Given the description of an element on the screen output the (x, y) to click on. 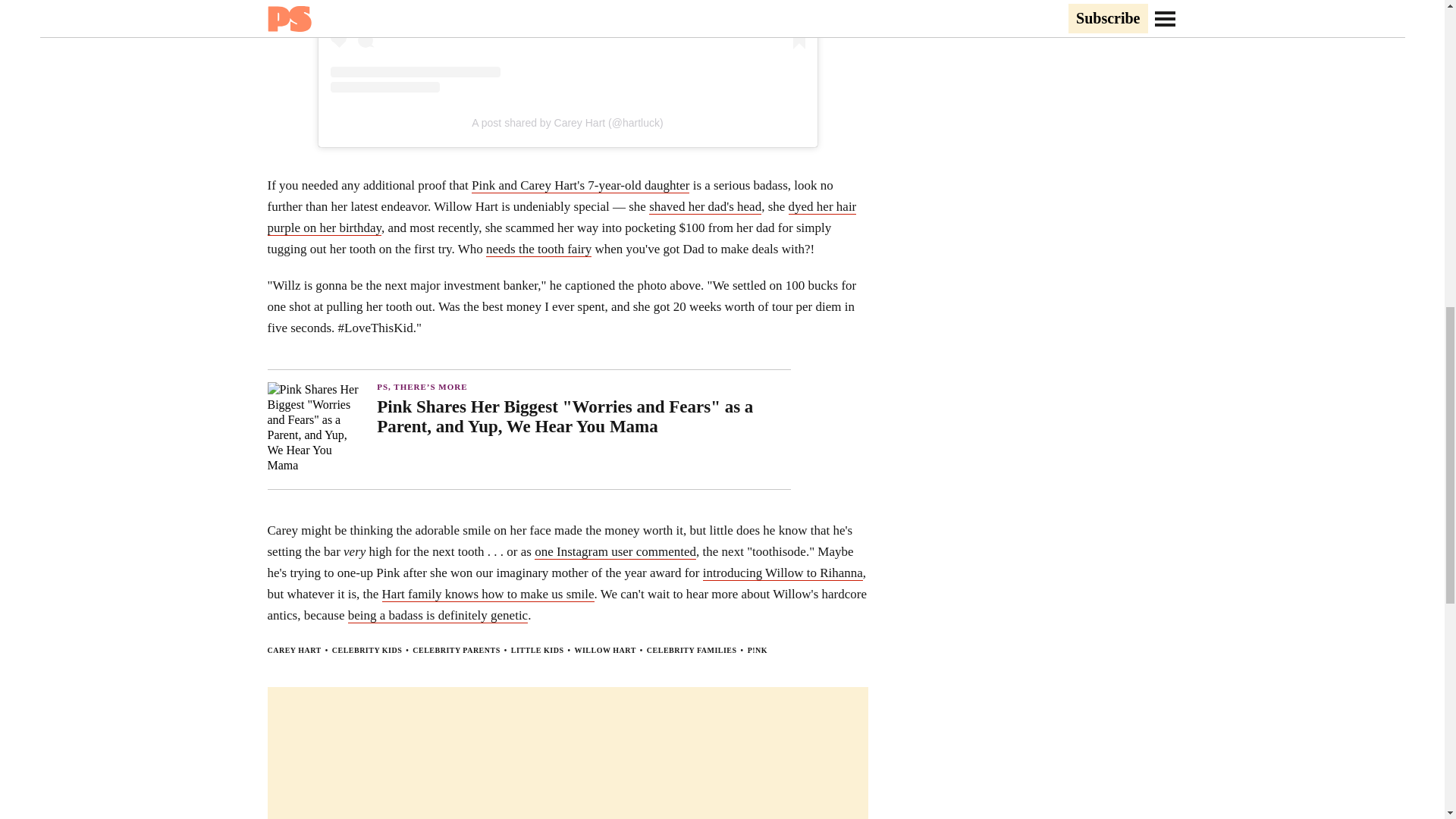
WILLOW HART (603, 650)
Hart family knows how to make us smile (487, 594)
needs the tooth fairy (538, 249)
View this post on Instagram (567, 46)
CELEBRITY KIDS (367, 650)
Pink and Carey Hart's 7-year-old daughter (579, 185)
CAREY HART (293, 650)
CELEBRITY PARENTS (455, 650)
P!NK (757, 650)
dyed her hair purple on her birthday (561, 217)
shaved her dad's head (705, 206)
one Instagram user commented (614, 551)
introducing Willow to Rihanna (783, 572)
being a badass is definitely genetic (437, 615)
